Given the description of an element on the screen output the (x, y) to click on. 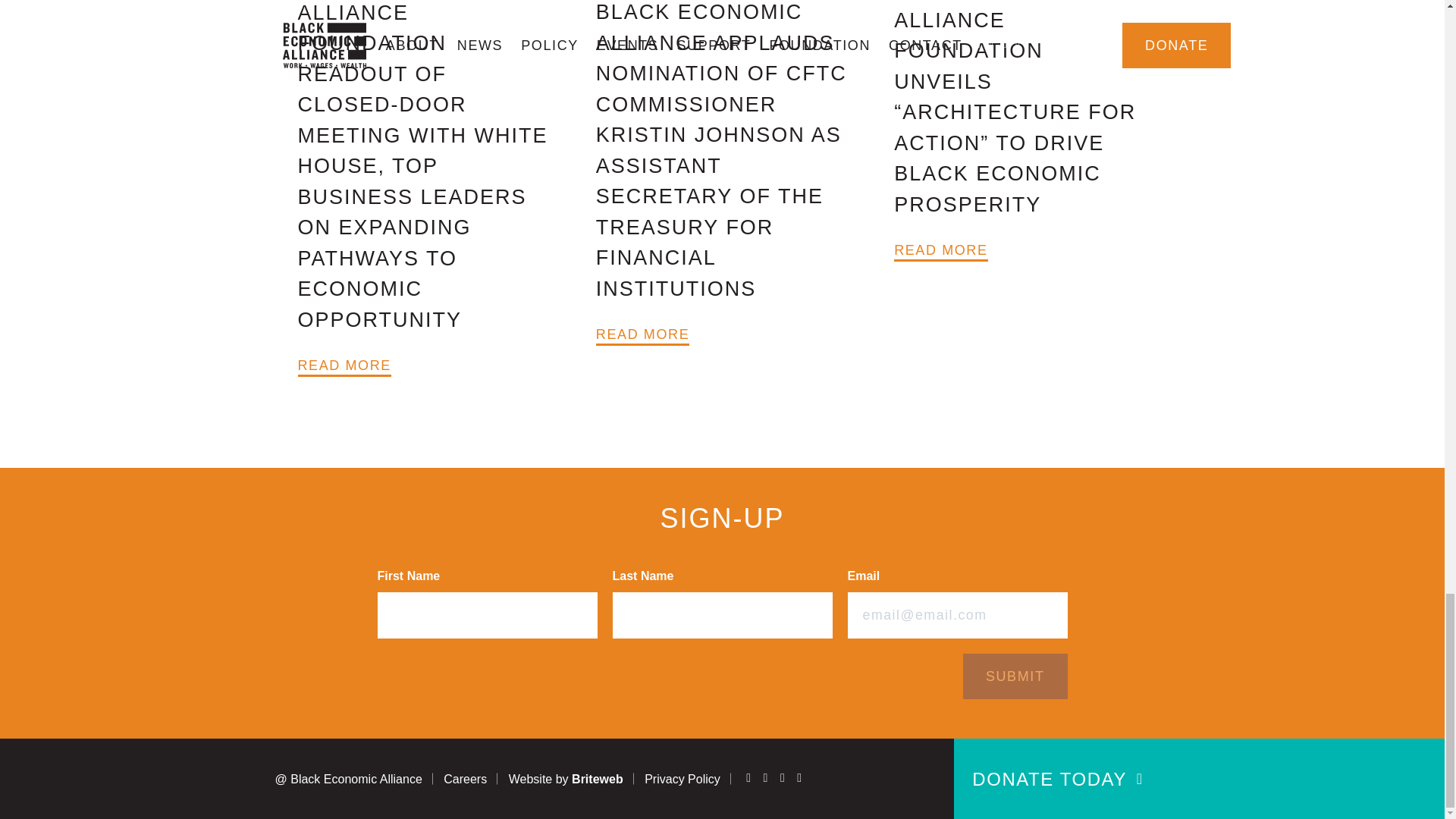
READ MORE (641, 333)
Submit (1014, 676)
READ MORE (343, 364)
